Given the description of an element on the screen output the (x, y) to click on. 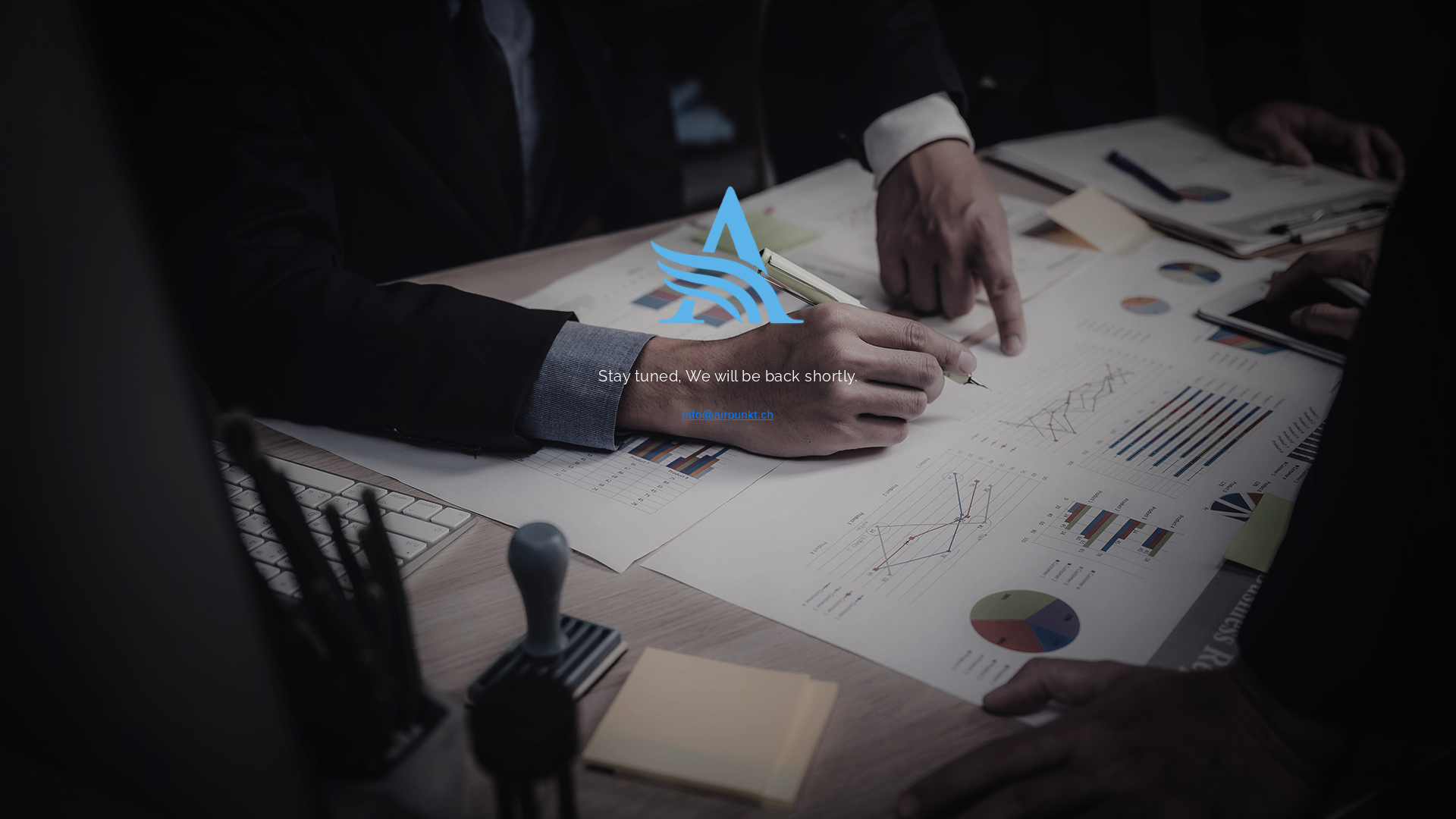
info@airpunkt.ch Element type: text (728, 413)
